Given the description of an element on the screen output the (x, y) to click on. 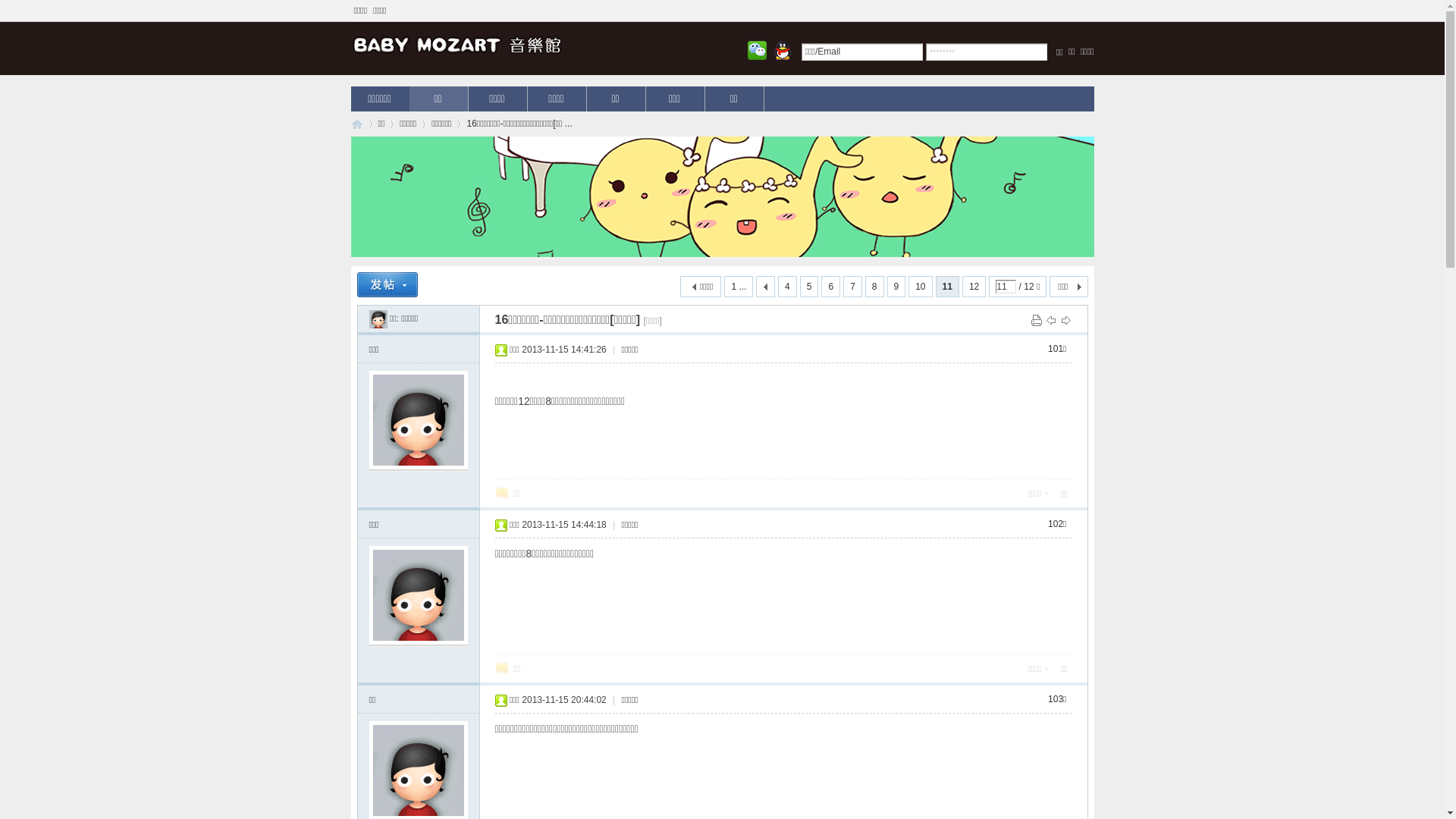
5 Element type: text (809, 286)
8 Element type: text (874, 286)
   Element type: text (765, 286)
9 Element type: text (896, 286)
10 Element type: text (919, 286)
6 Element type: text (830, 286)
1 ... Element type: text (738, 286)
4 Element type: text (787, 286)
7 Element type: text (852, 286)
12 Element type: text (973, 286)
